Given the description of an element on the screen output the (x, y) to click on. 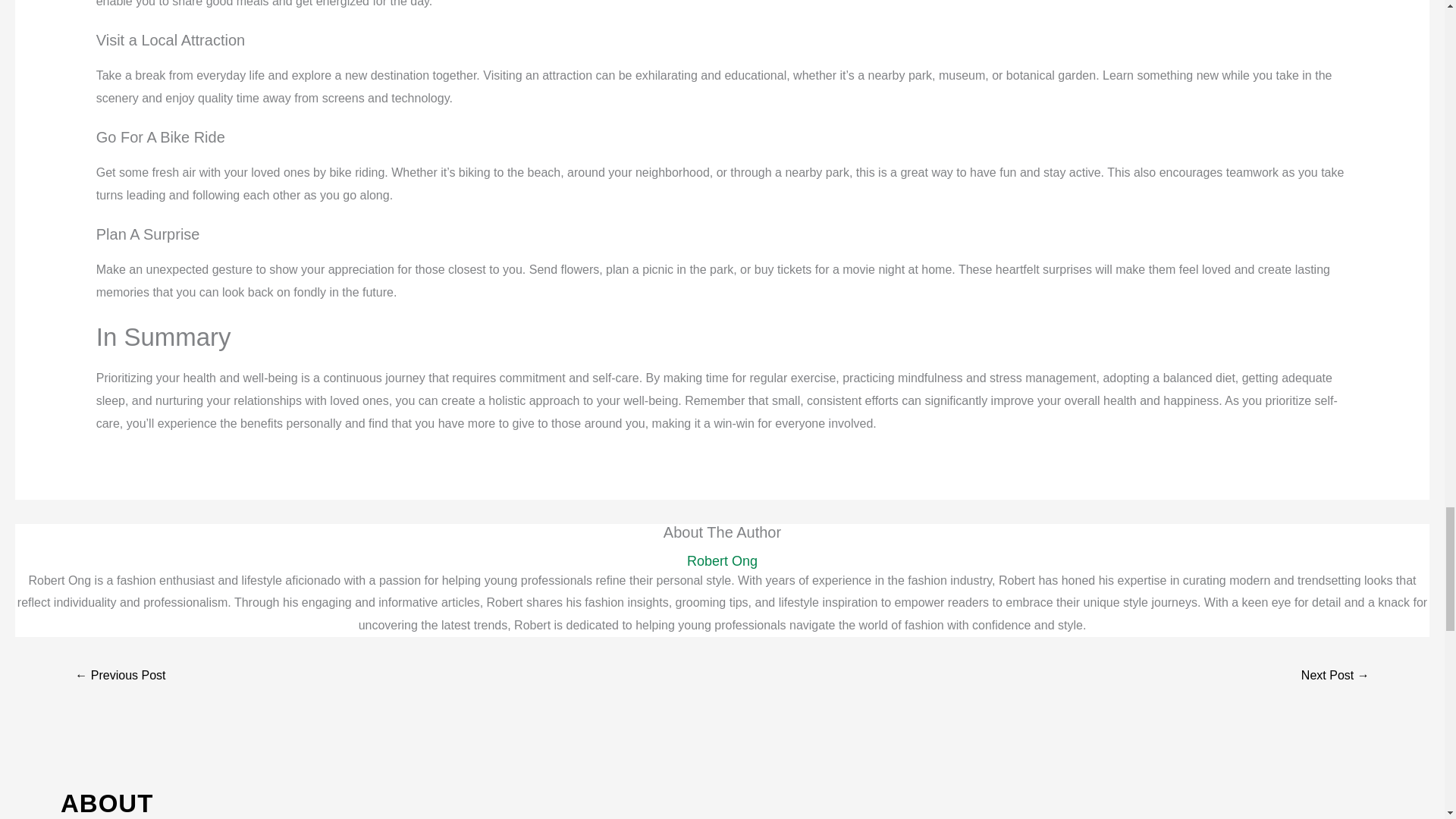
How To Wear A Cardigan: A Comprehensive Guide For Men (119, 676)
Creating an Ideal Lifestyle for Yourself at Your 40s (1334, 676)
